Given the description of an element on the screen output the (x, y) to click on. 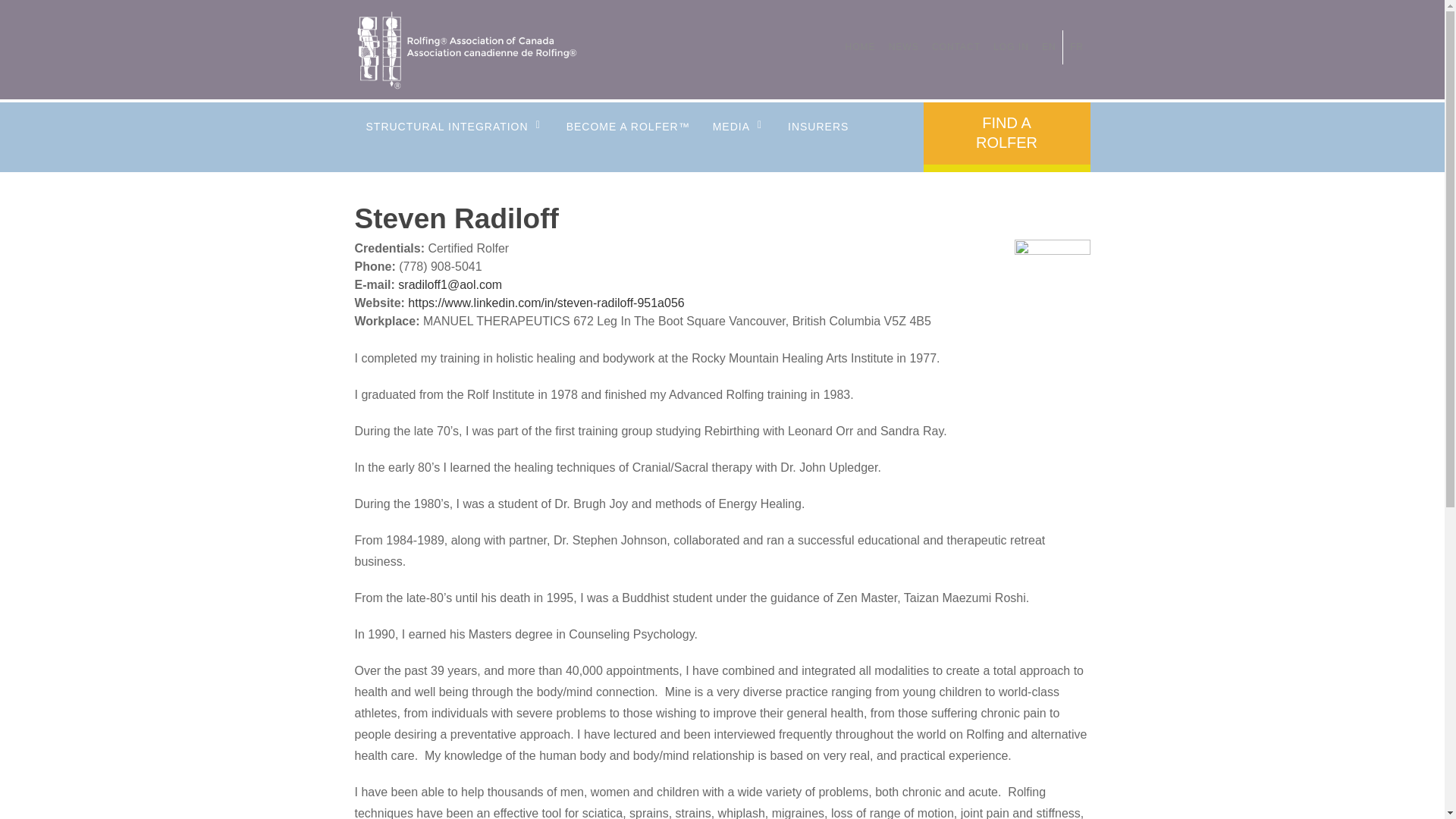
FASCIA IN GRAVITY (624, 223)
LOG IN (1011, 47)
EVENTS (735, 257)
THE SCIENCE OF STRUCTURAL INTEGRATION (451, 223)
IPR QUOTES (735, 188)
MEDIA (738, 136)
NEWS (903, 47)
ABOUT DR. IDA P. ROLF (451, 291)
NEWS (735, 223)
FIND A ROLFER (1006, 136)
